Given the description of an element on the screen output the (x, y) to click on. 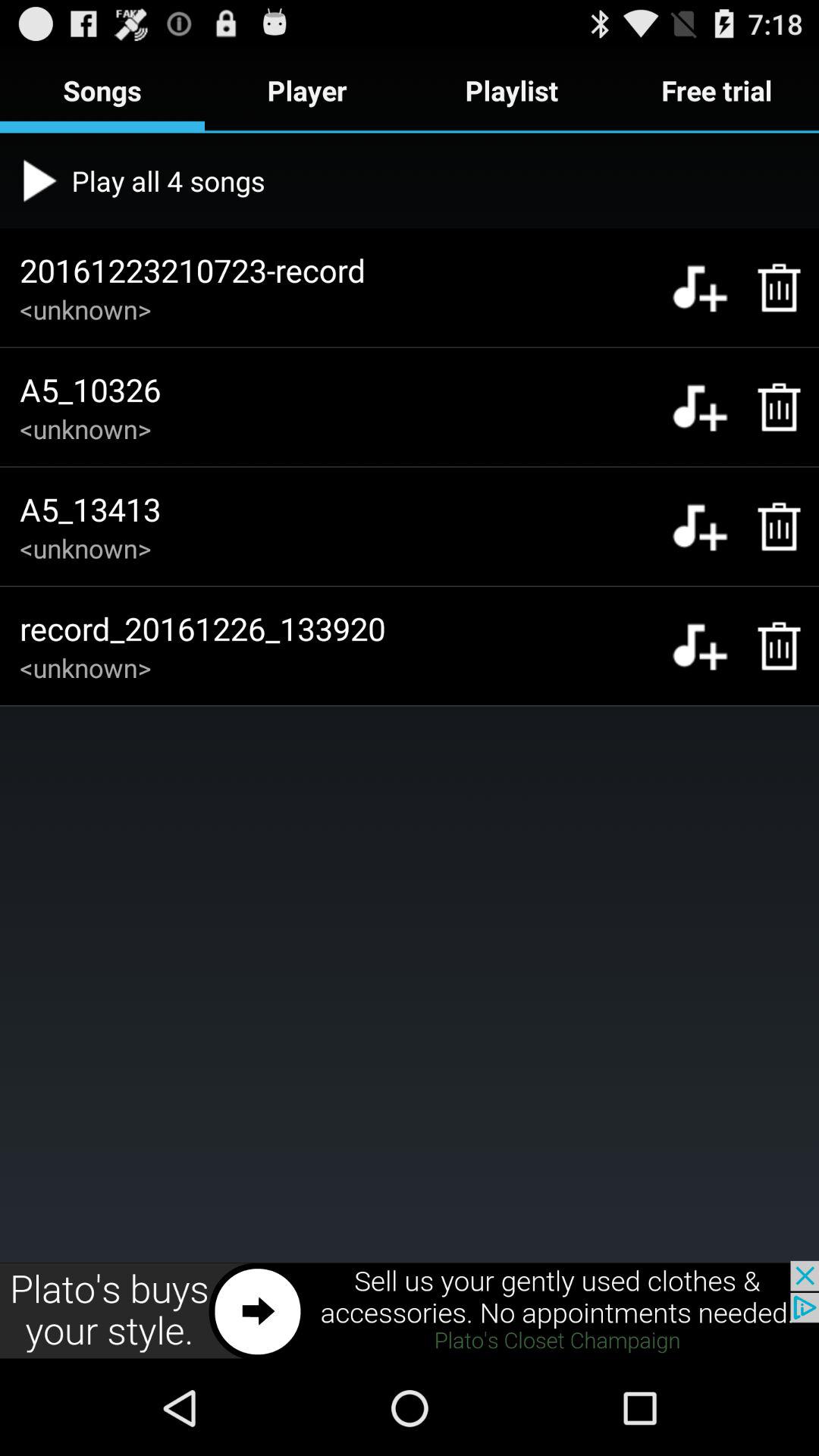
advertisement (409, 1310)
